Given the description of an element on the screen output the (x, y) to click on. 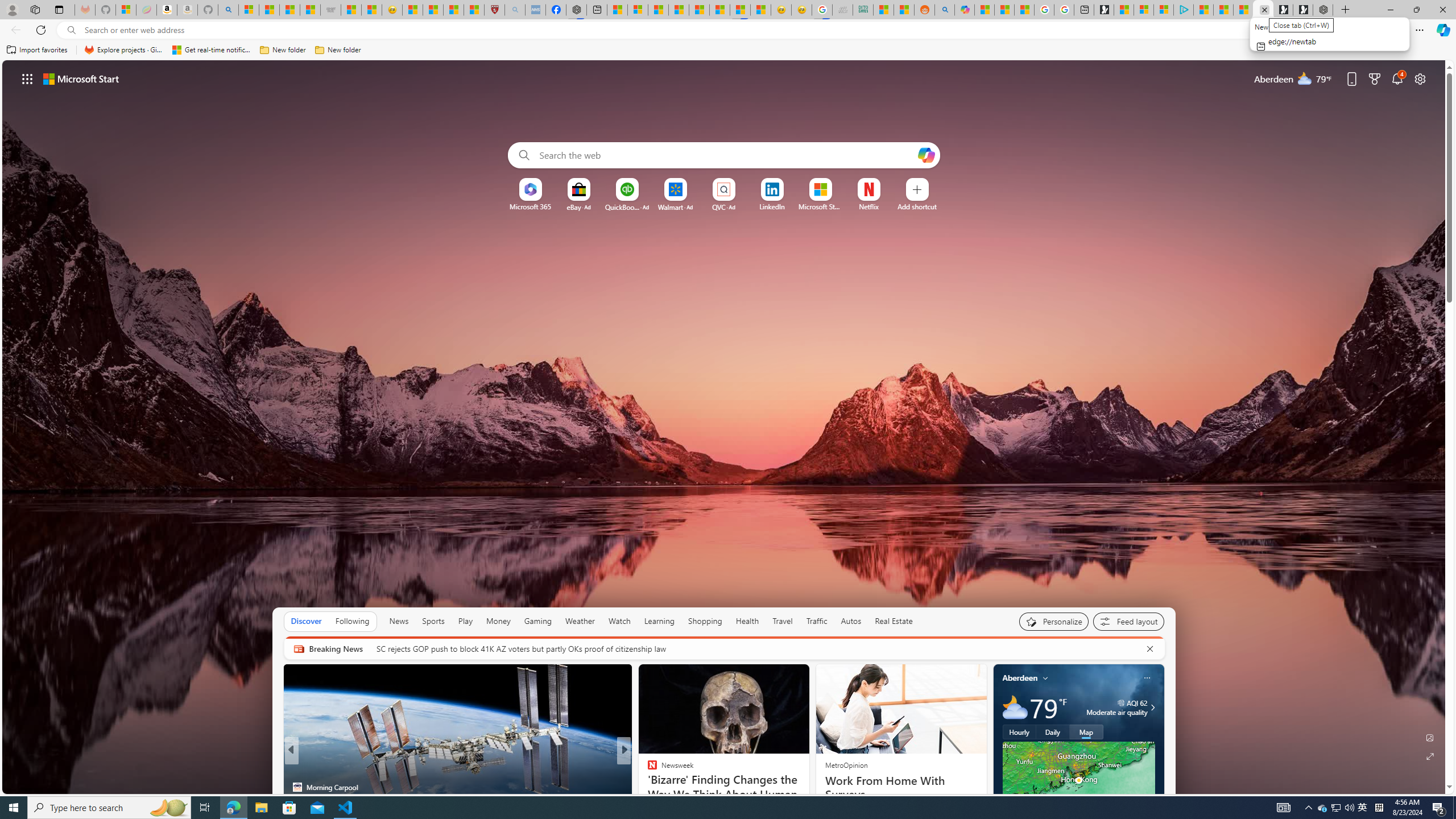
App launcher (27, 78)
Search icon (70, 29)
Shopping (705, 621)
These 3 Stocks Pay You More Than 5% to Own Them (1242, 9)
HowToGeek (647, 786)
My location (1045, 677)
Class: weather-arrow-glyph (1152, 707)
